Given the description of an element on the screen output the (x, y) to click on. 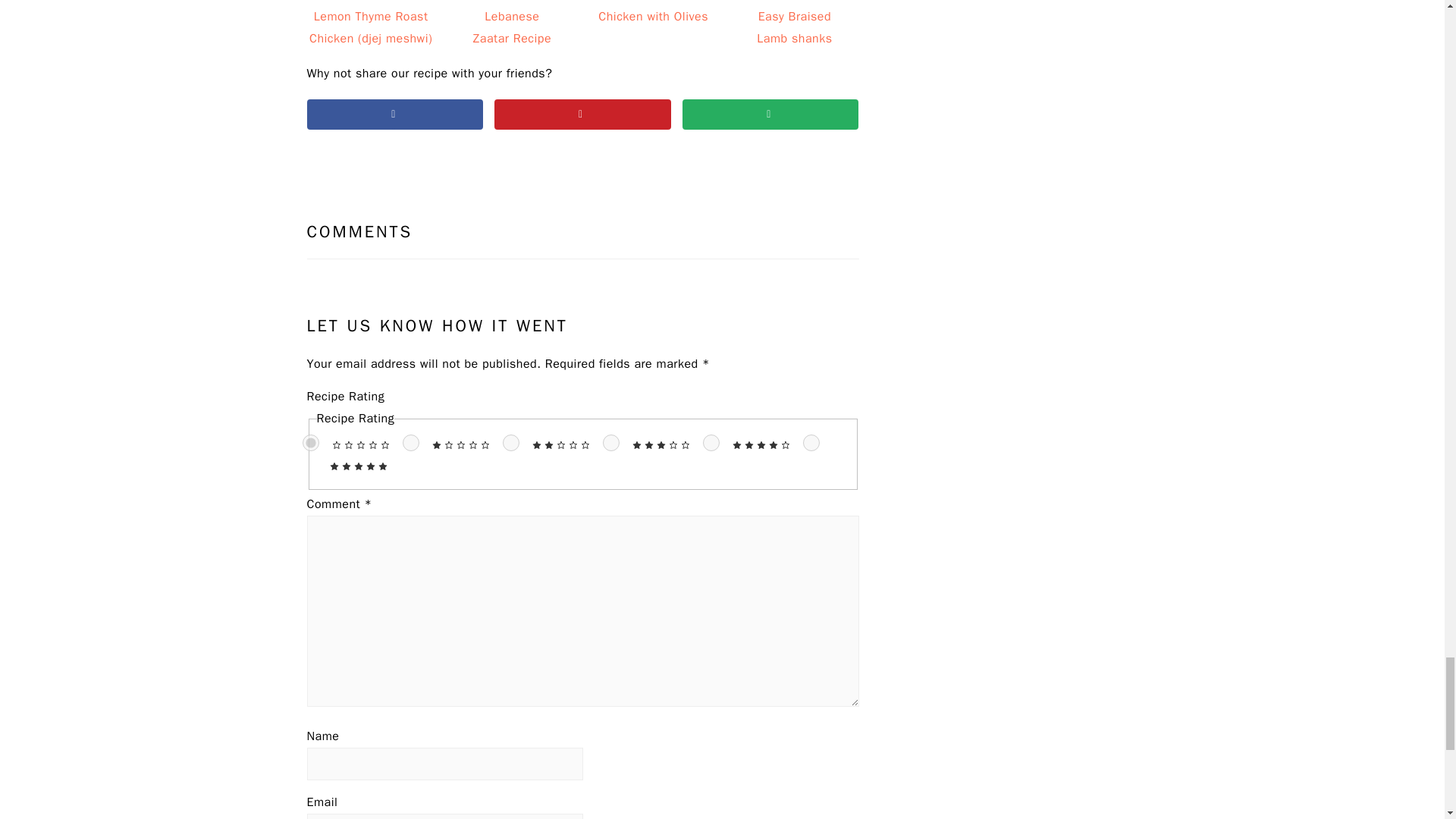
3 (610, 442)
5 (810, 442)
2 (510, 442)
4 (710, 442)
0 (309, 442)
1 (410, 442)
Share on Facebook (394, 113)
Save to Pinterest (583, 113)
Send over email (770, 113)
